Given the description of an element on the screen output the (x, y) to click on. 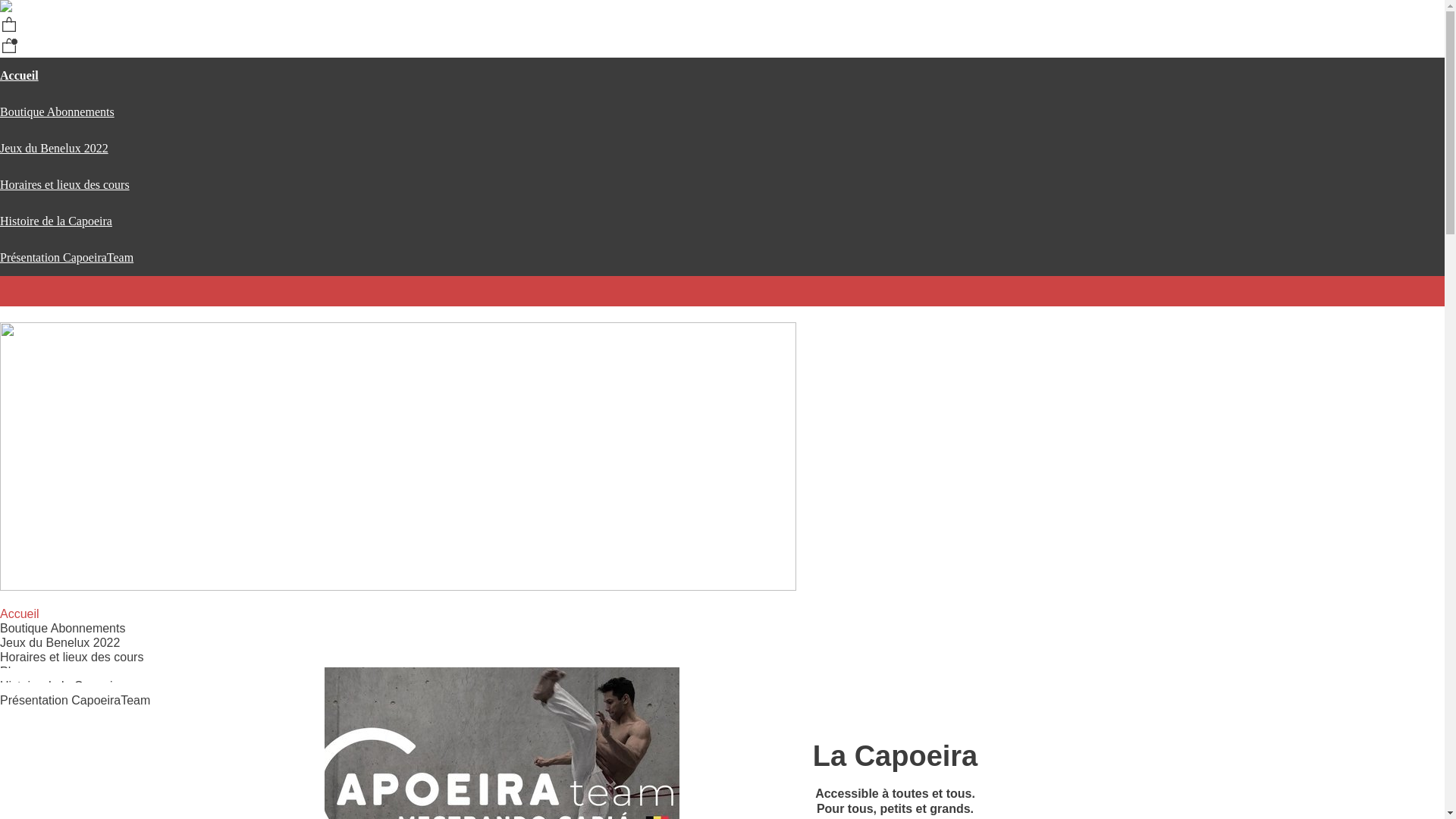
Jeux du Benelux 2022 Element type: text (54, 147)
Accueil Element type: text (19, 75)
Boutique Abonnements Element type: text (57, 111)
Jeux du Benelux 2022 Element type: text (59, 641)
Boutique Abonnements Element type: text (62, 627)
Histoire de la Capoeira Element type: text (61, 685)
Accueil Element type: text (19, 613)
Horaires et lieux des cours Element type: text (71, 656)
Histoire de la Capoeira Element type: text (56, 220)
Horaires et lieux des cours Element type: text (64, 184)
Plus Element type: text (21, 670)
